Given the description of an element on the screen output the (x, y) to click on. 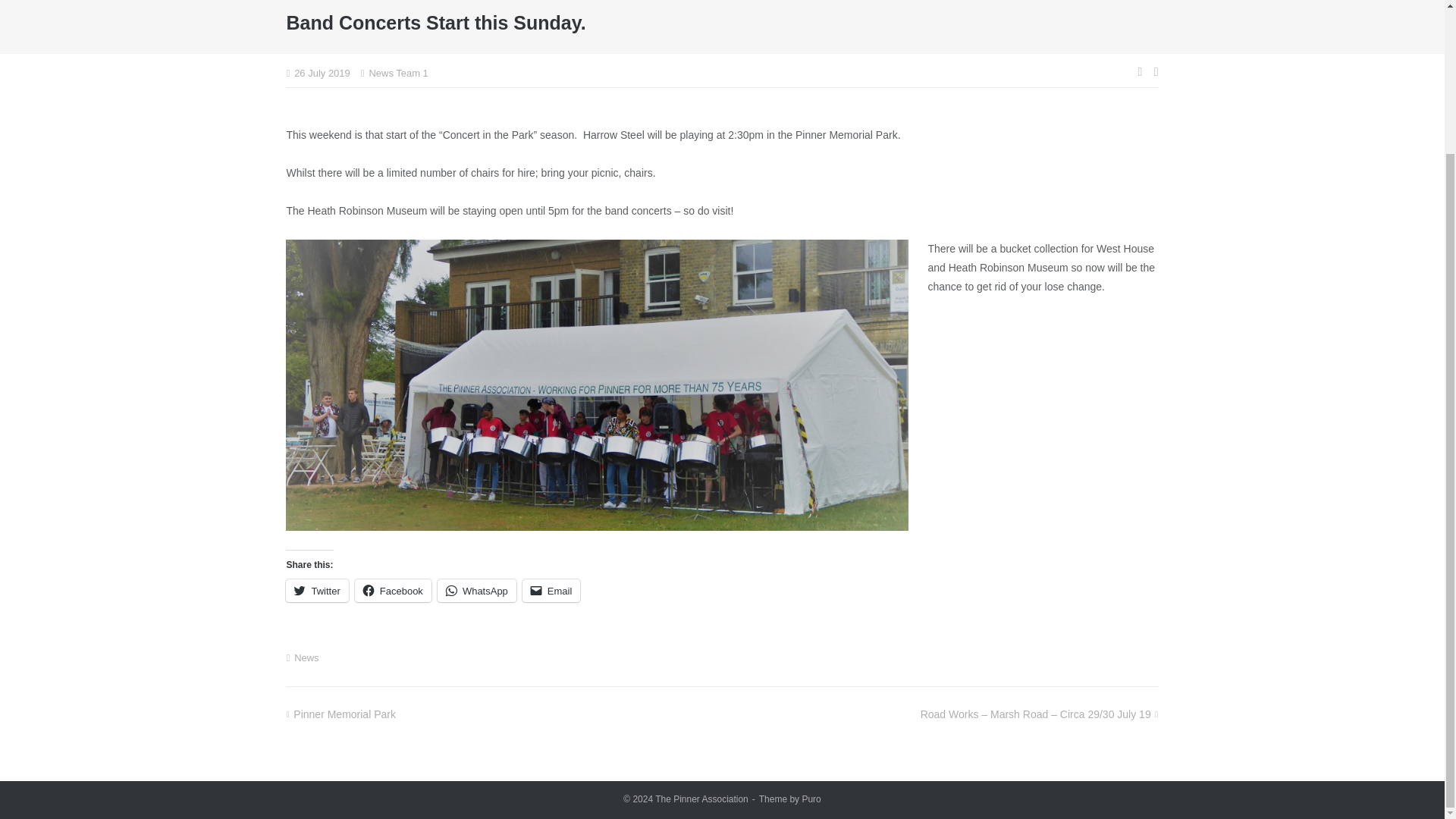
Twitter (316, 590)
Puro (811, 798)
Email (551, 590)
Click to share on Twitter (316, 590)
The Pinner Association (701, 798)
News Team 1 (398, 72)
Click to share on Facebook (392, 590)
Click to email a link to a friend (551, 590)
Click to share on WhatsApp (477, 590)
Facebook (392, 590)
